Given the description of an element on the screen output the (x, y) to click on. 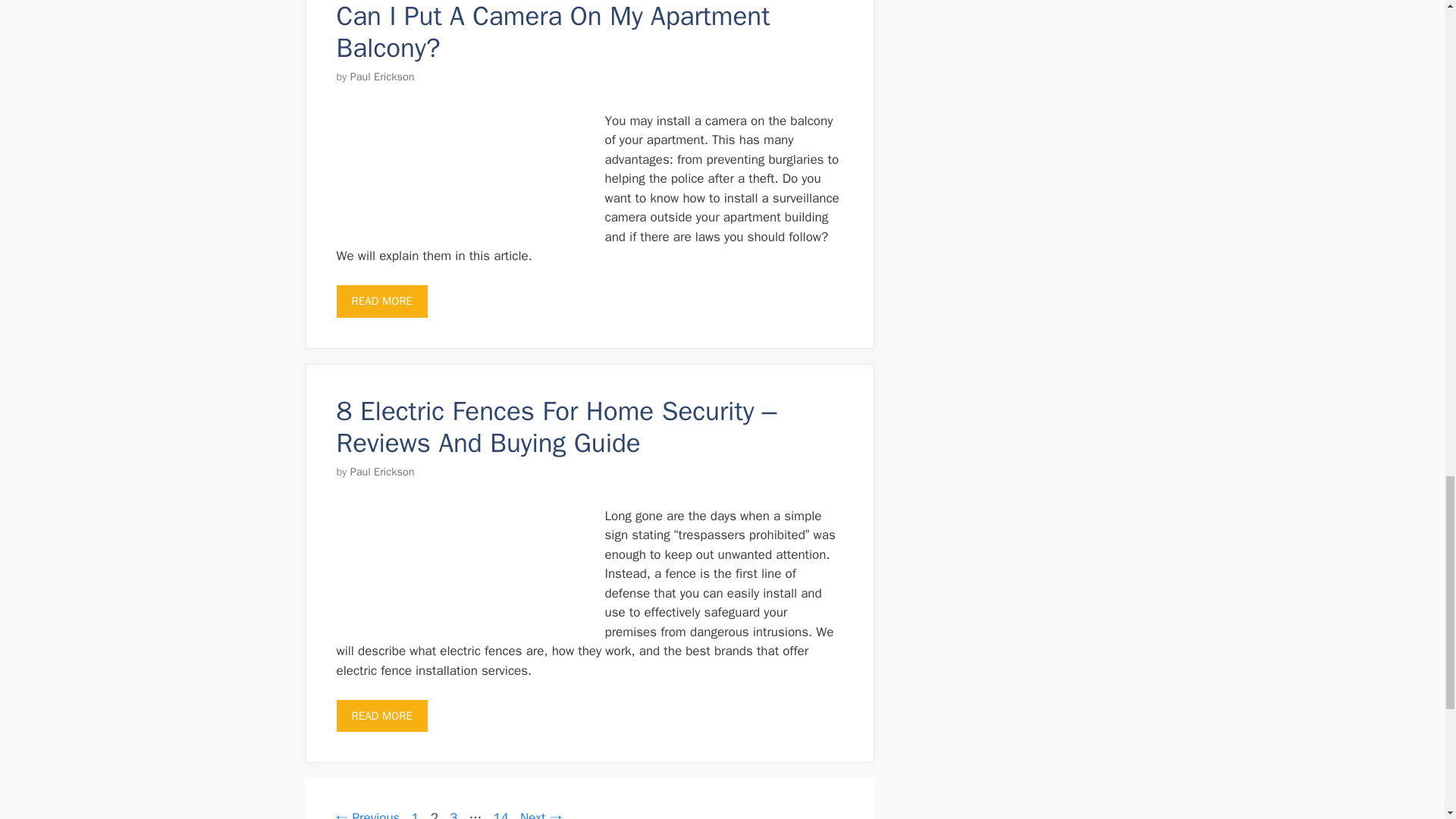
View all posts by Paul Erickson (382, 471)
View all posts by Paul Erickson (382, 76)
